Given the description of an element on the screen output the (x, y) to click on. 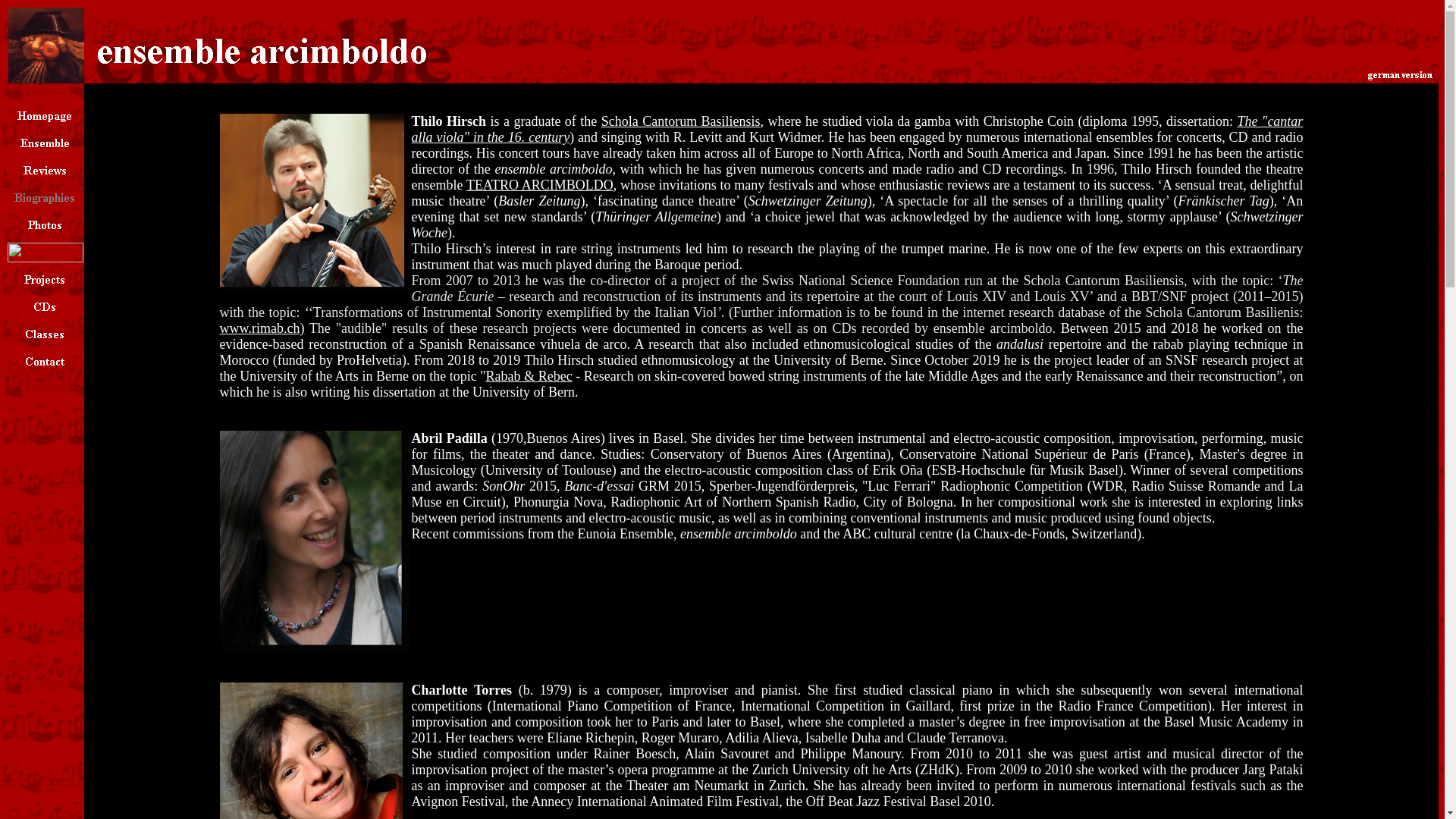
Schola Cantorum Basiliensis Element type: text (680, 120)
TEATRO ARCIMBOLDO Element type: text (539, 184)
www.rimab.ch) Element type: text (261, 327)
The "cantar alla viola" in the 16. century Element type: text (857, 128)
Rabab & Rebec Element type: text (529, 375)
